Given the description of an element on the screen output the (x, y) to click on. 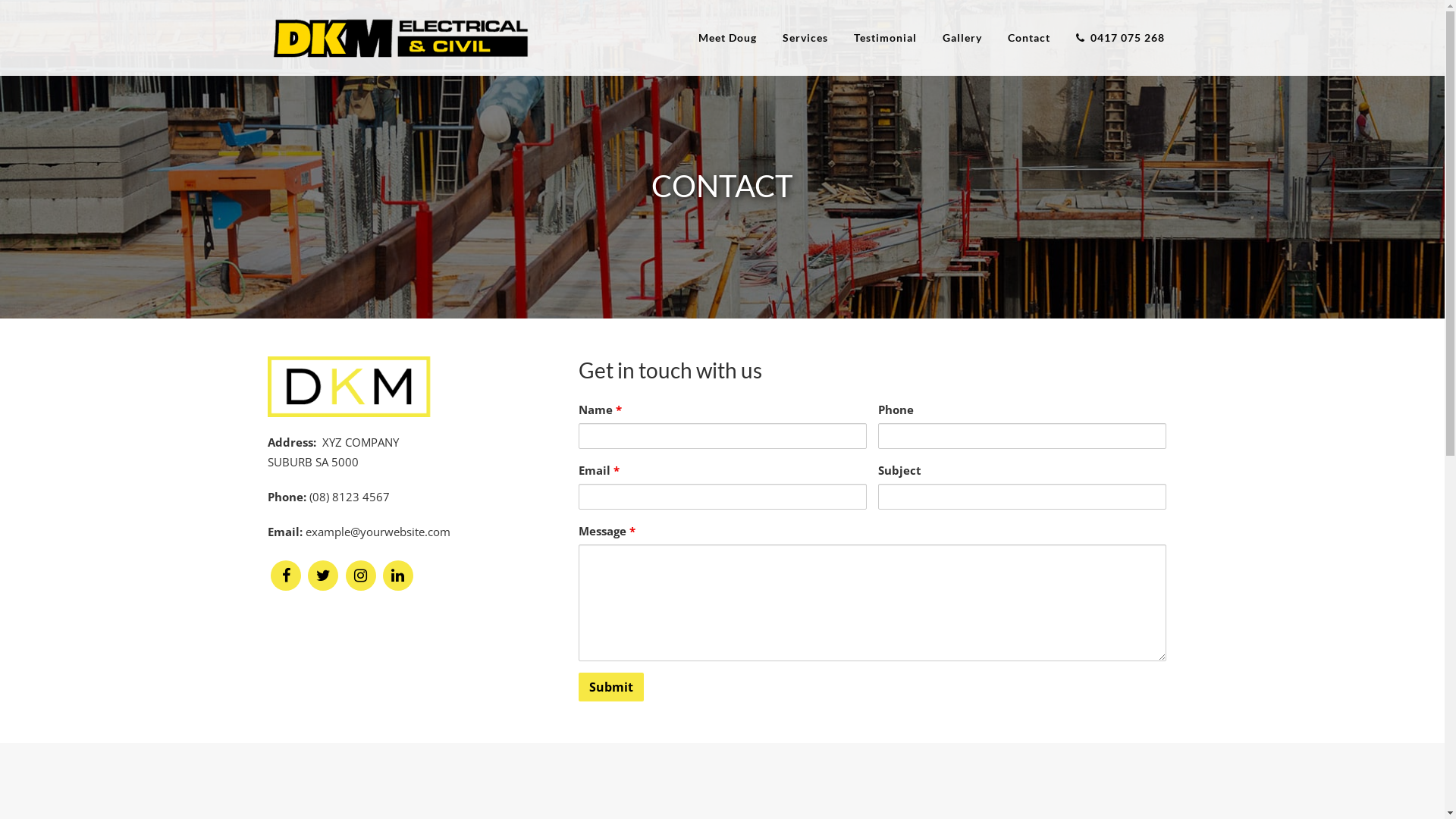
Meet Doug Element type: text (727, 37)
Submit Element type: text (610, 687)
(08) 8123 4567 Element type: text (349, 496)
0417 075 268 Element type: text (1120, 37)
example@yourwebsite.com Element type: text (376, 531)
Gallery Element type: text (961, 37)
Services Element type: text (804, 37)
Testimonial Element type: text (884, 37)
Contact Element type: text (1028, 37)
